Given the description of an element on the screen output the (x, y) to click on. 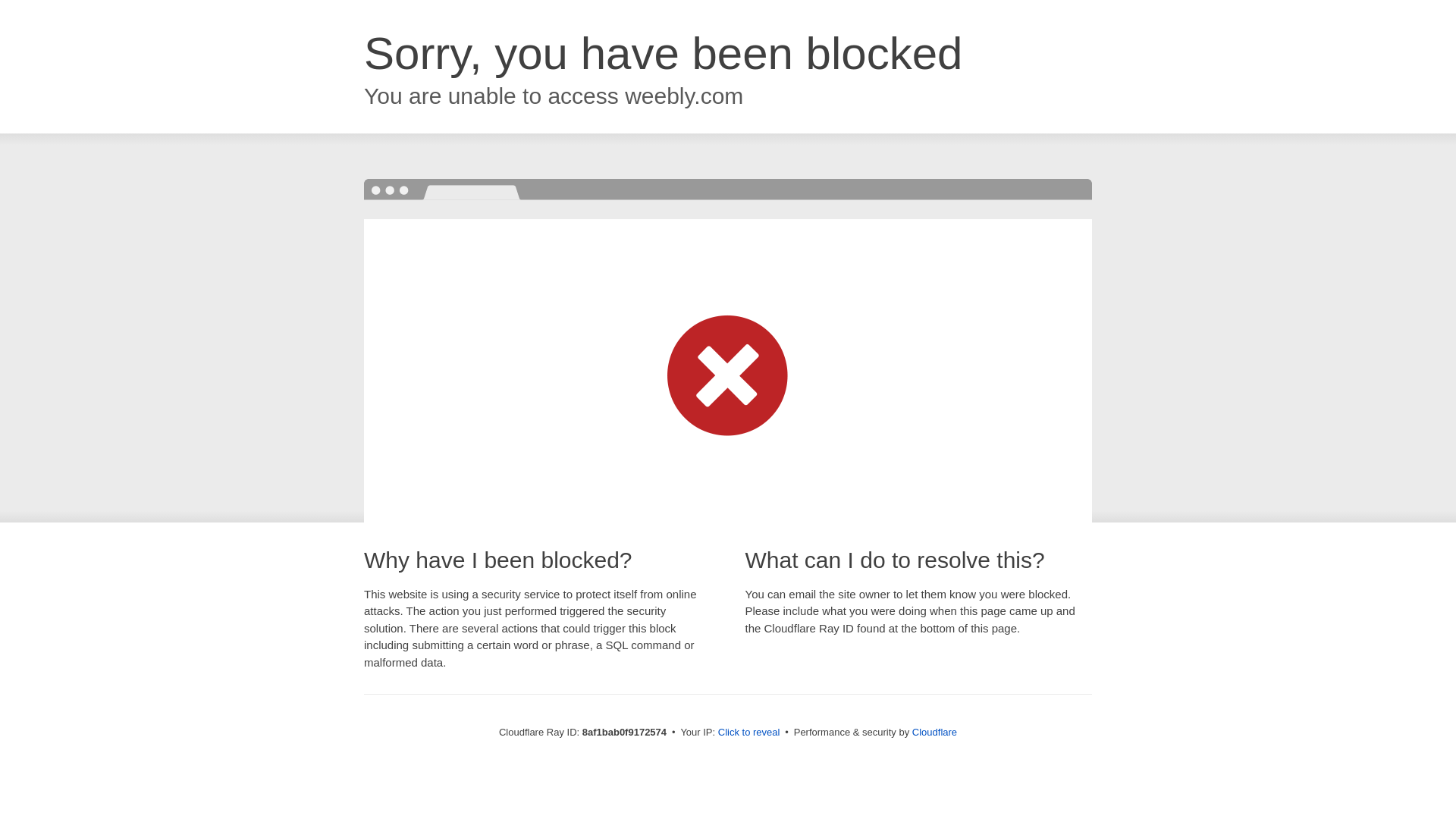
Click to reveal (748, 732)
Cloudflare (934, 731)
